Given the description of an element on the screen output the (x, y) to click on. 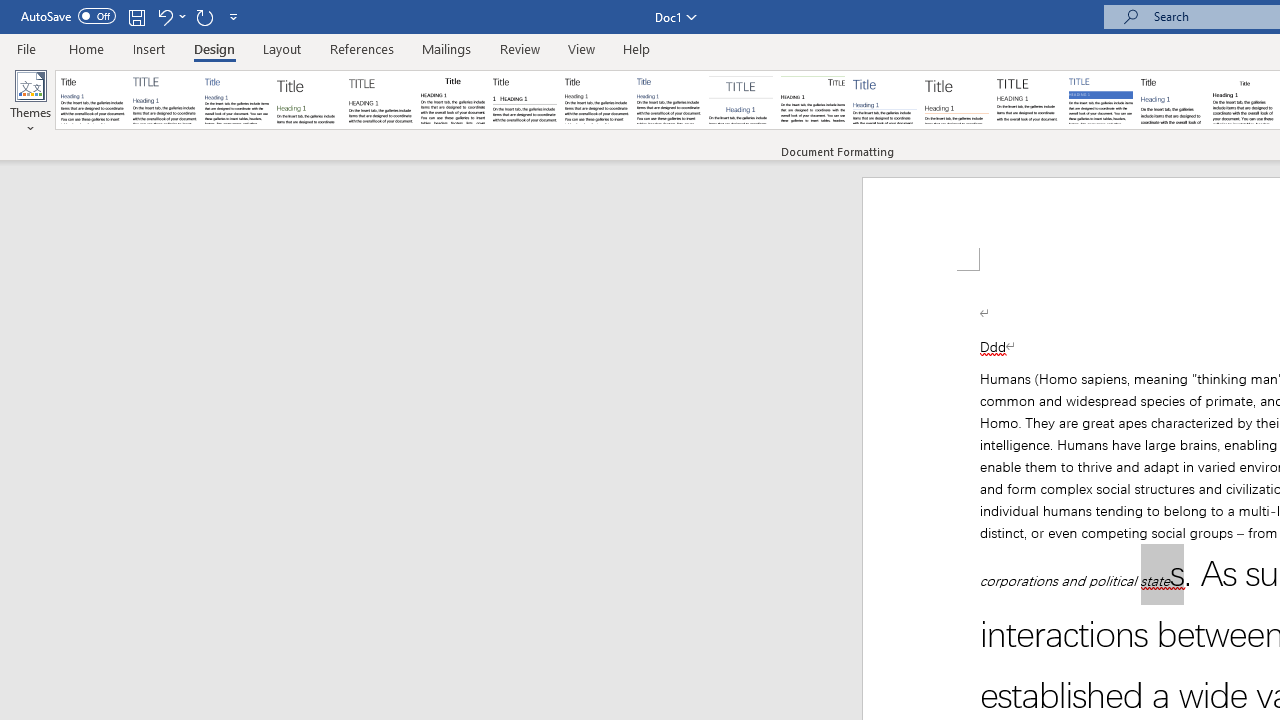
Basic (Stylish) (308, 100)
Black & White (Classic) (452, 100)
Home (86, 48)
Basic (Simple) (236, 100)
Minimalist (1028, 100)
Black & White (Numbered) (524, 100)
Undo Apply Quick Style Set (164, 15)
Design (214, 48)
System (10, 11)
Lines (Simple) (884, 100)
File Tab (26, 48)
Review (520, 48)
Word (1172, 100)
Mailings (447, 48)
